Given the description of an element on the screen output the (x, y) to click on. 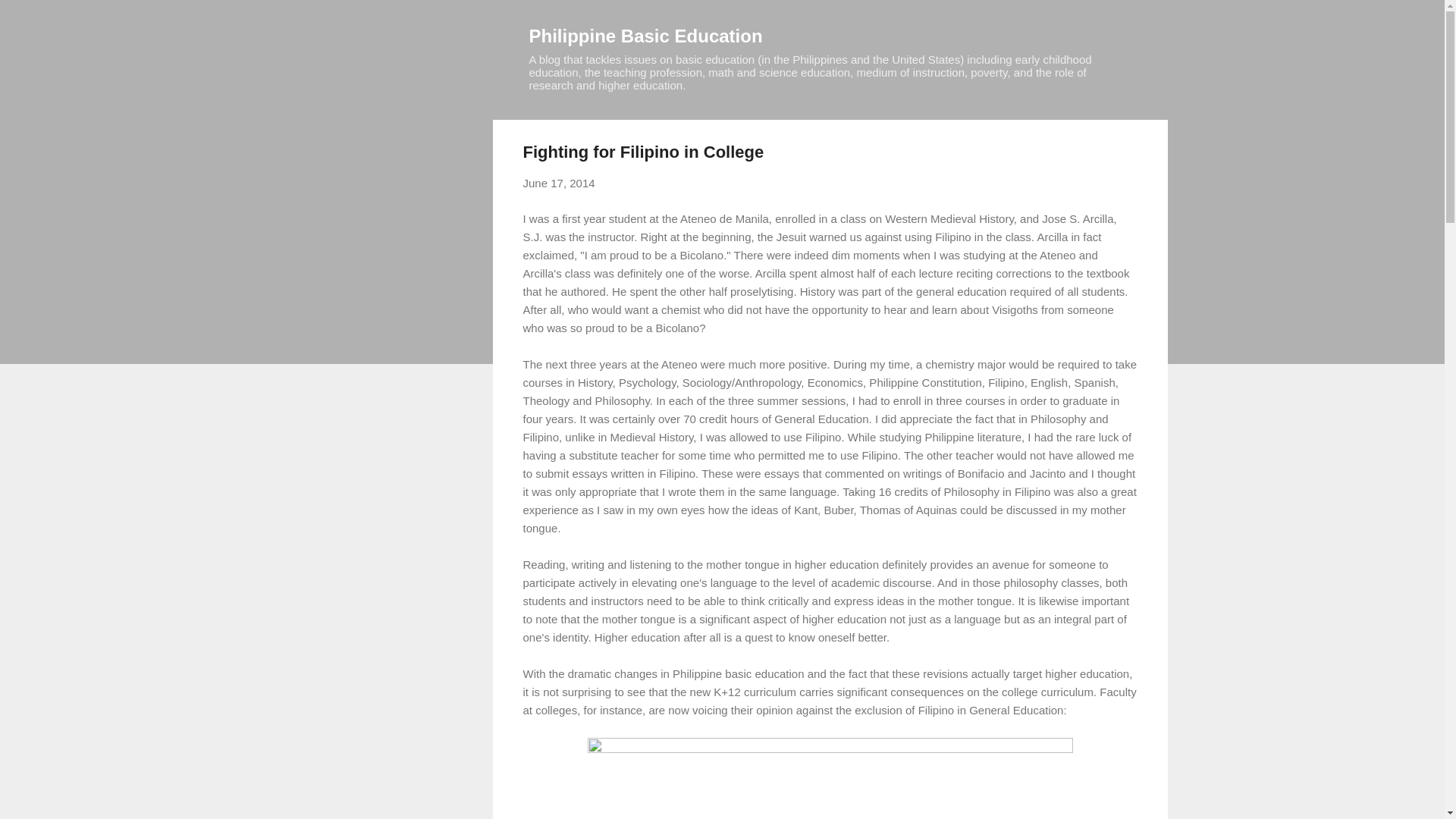
June 17, 2014 (558, 182)
permanent link (558, 182)
Philippine Basic Education (645, 35)
Search (29, 18)
